Given the description of an element on the screen output the (x, y) to click on. 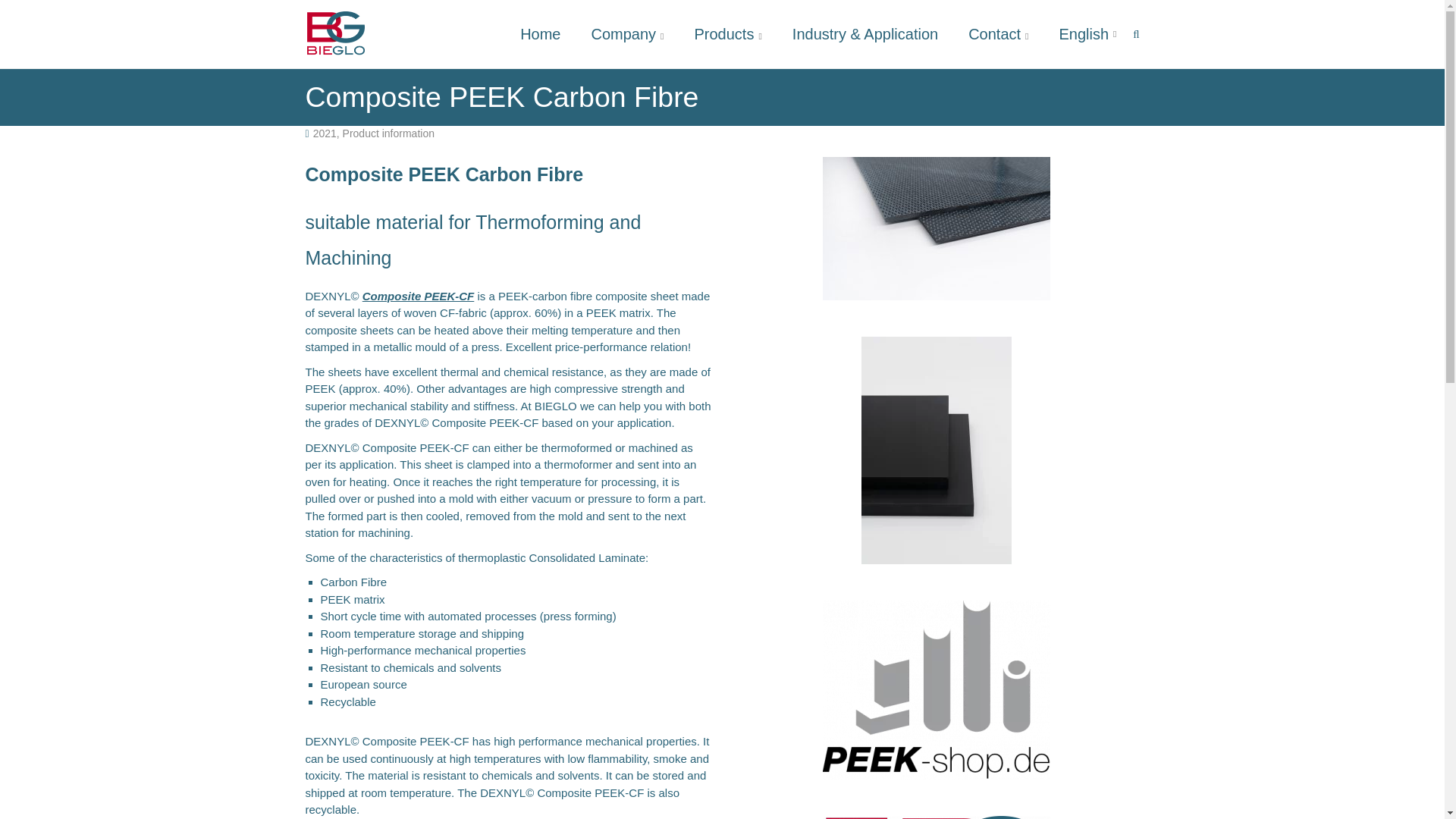
Bieglo High Performance Logo (935, 817)
PEEK Composite sheets 2 (935, 228)
Company (627, 33)
English (1087, 33)
Visit our PEEK-shop (935, 689)
Products (727, 33)
